Given the description of an element on the screen output the (x, y) to click on. 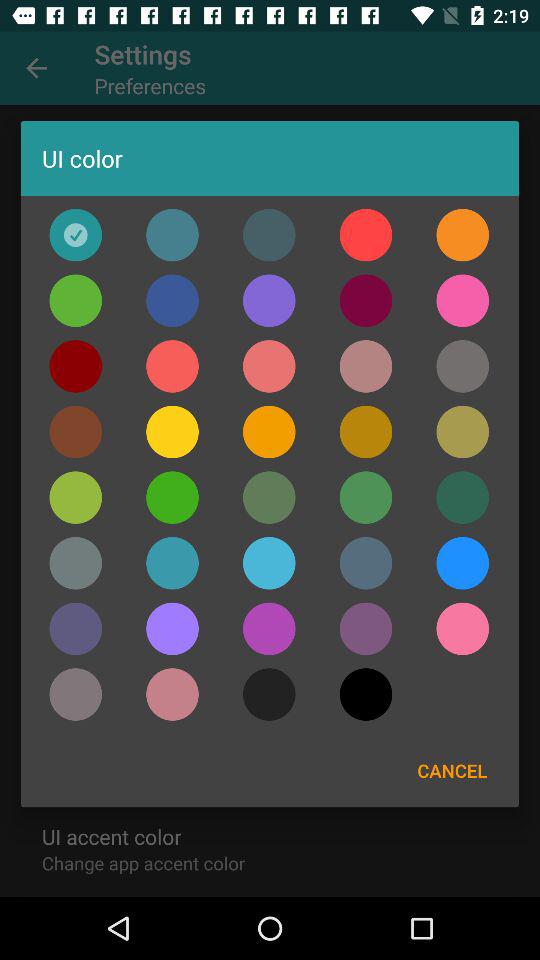
apply green ui colour (75, 300)
